Given the description of an element on the screen output the (x, y) to click on. 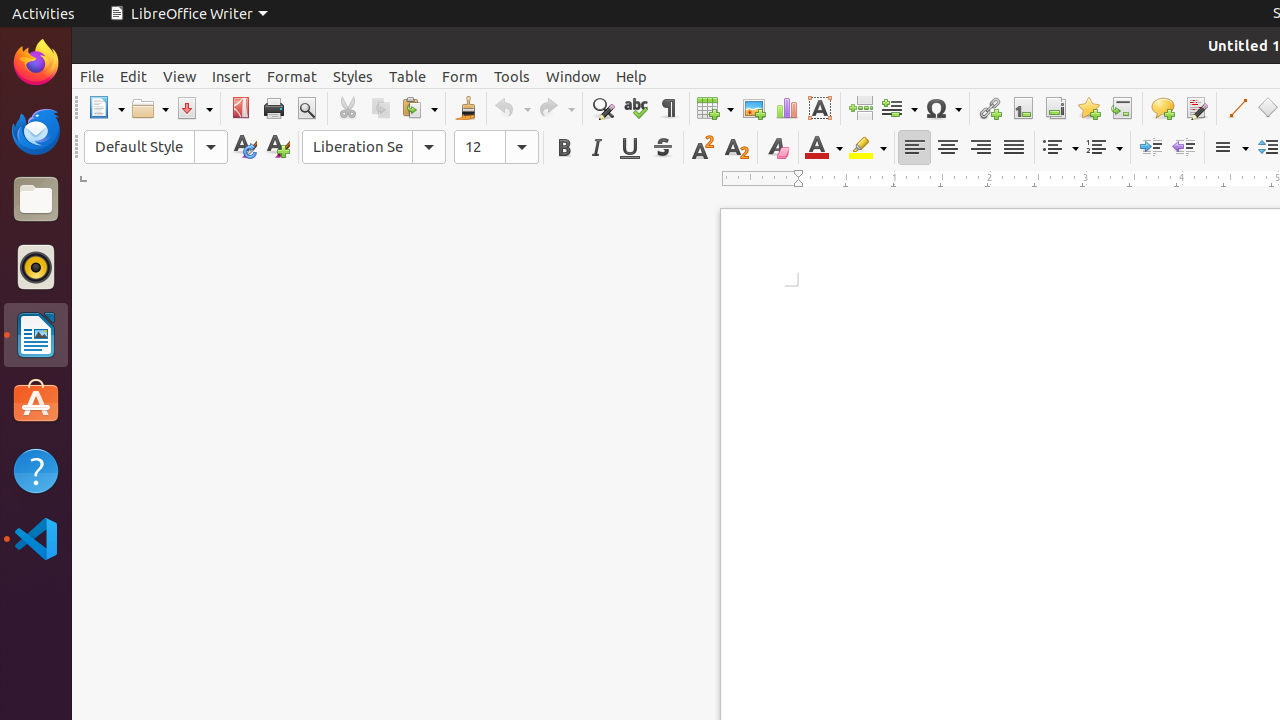
Files Element type: push-button (36, 199)
Form Element type: menu (460, 76)
Clone Element type: push-button (465, 108)
Chart Element type: push-button (786, 108)
Spelling Element type: push-button (635, 108)
